Given the description of an element on the screen output the (x, y) to click on. 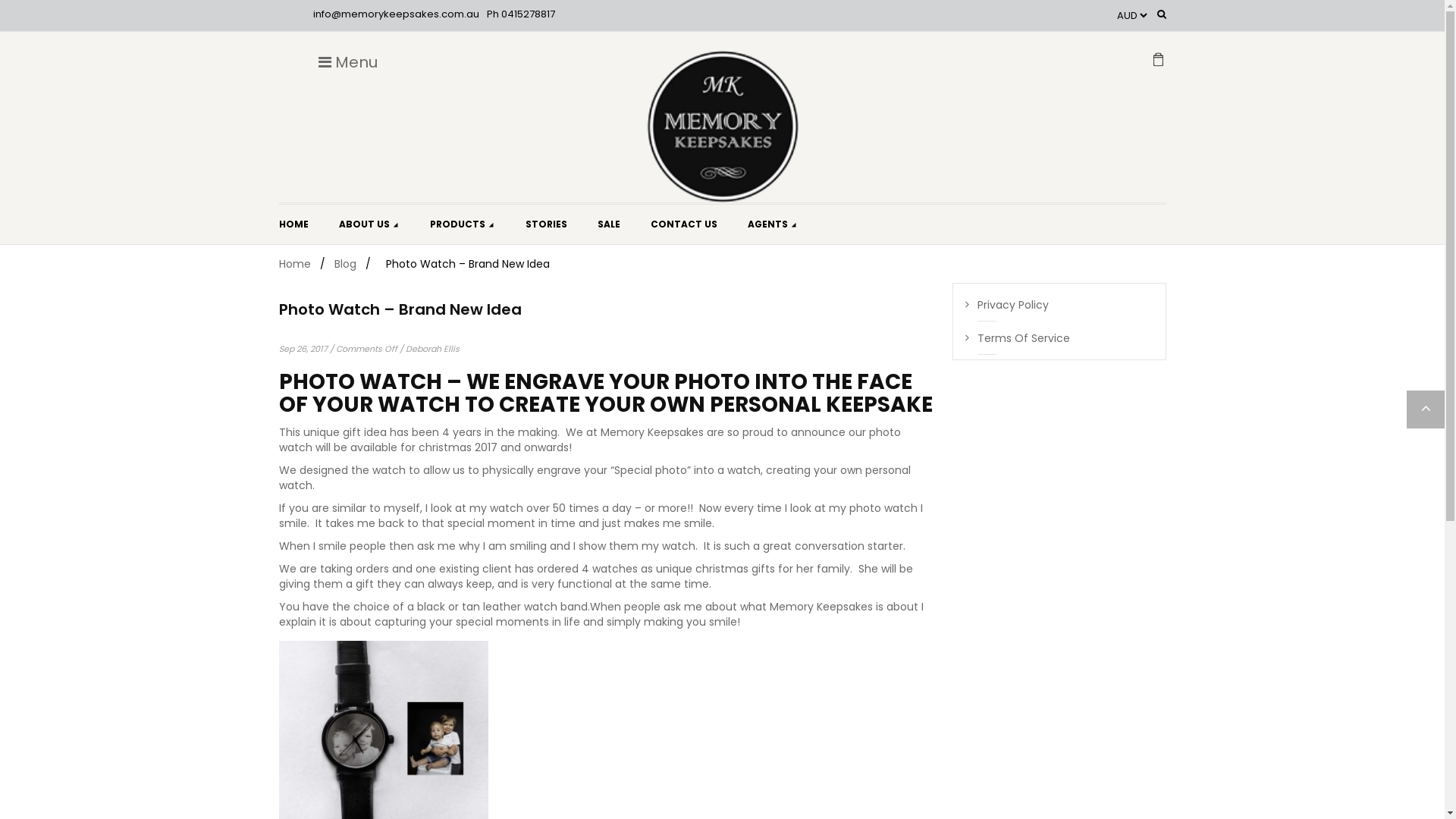
CONTACT US Element type: text (683, 224)
Deborah Ellis Element type: text (431, 348)
Home Element type: text (294, 263)
AGENTS Element type: text (772, 224)
Terms Of Service Element type: text (1017, 337)
PRODUCTS Element type: text (461, 224)
ABOUT US Element type: text (368, 224)
Privacy Policy Element type: text (1006, 304)
STORIES Element type: text (545, 224)
Menu Element type: text (348, 62)
Blog Element type: text (344, 263)
Ph 0415278817 Element type: text (520, 13)
SALE Element type: text (608, 224)
info@memorykeepsakes.com.au Element type: text (395, 13)
HOME Element type: text (293, 224)
